Given the description of an element on the screen output the (x, y) to click on. 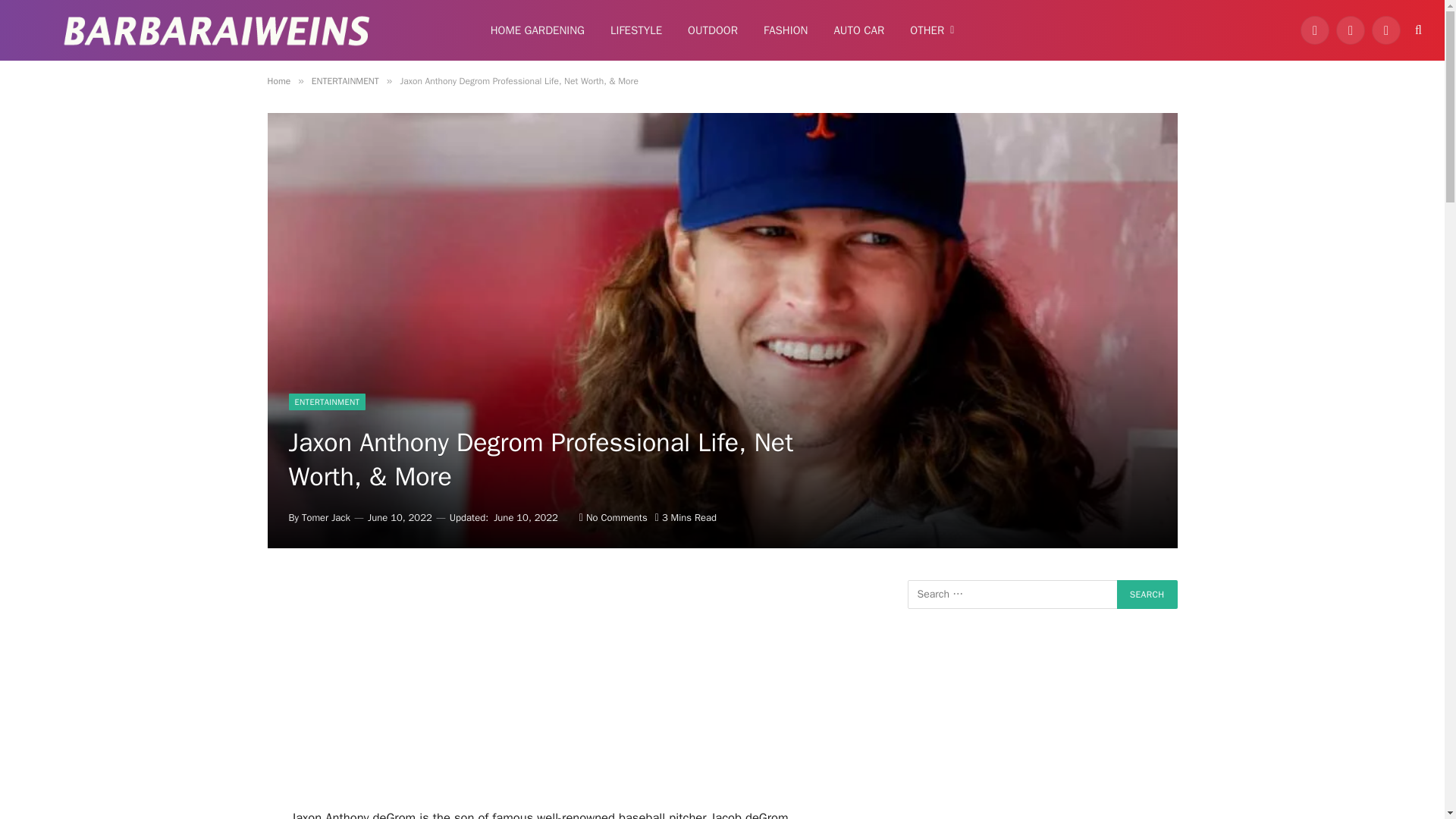
Search (1146, 594)
Advertisement (566, 694)
Posts by Tomer Jack (325, 517)
OTHER (931, 30)
AUTO CAR (858, 30)
LIFESTYLE (635, 30)
HOME GARDENING (536, 30)
FASHION (786, 30)
BARBARAIWEINS (216, 30)
Search (1146, 594)
